Given the description of an element on the screen output the (x, y) to click on. 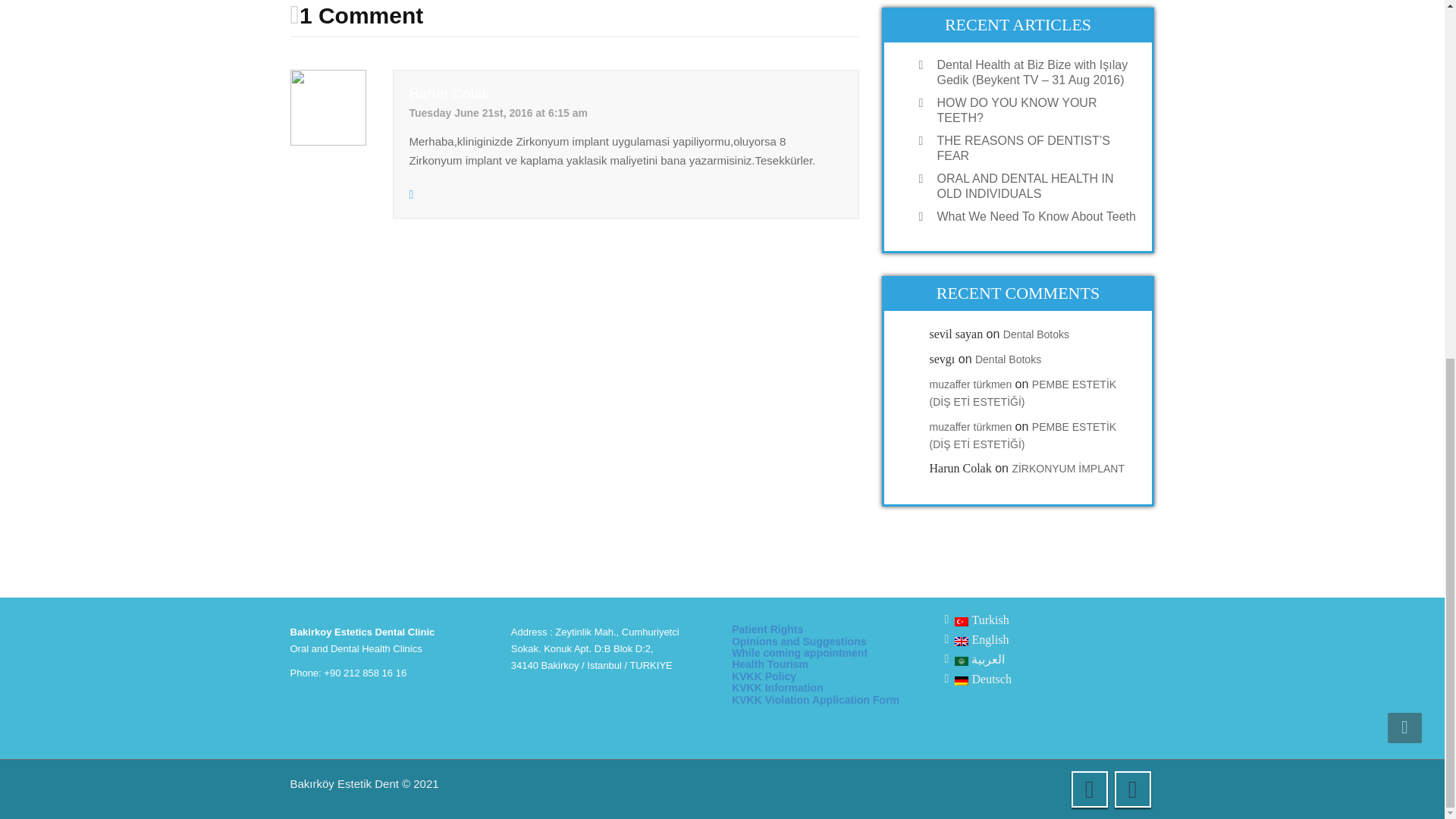
KVKK Information (778, 687)
Patient Rights (767, 629)
Dental Botoks (1008, 358)
What We Need To Know About Teeth (1033, 216)
Turkish (982, 619)
ORAL AND DENTAL HEALTH IN OLD INDIVIDUALS (1033, 186)
Opinions and Suggestions (799, 641)
While coming appointment (799, 653)
KVKK Policy (764, 676)
Health Tourism (770, 664)
KVKK Violation Application Form (815, 699)
Dental Botoks (1035, 334)
HOW DO YOU KNOW YOUR TEETH? (1033, 110)
